Given the description of an element on the screen output the (x, y) to click on. 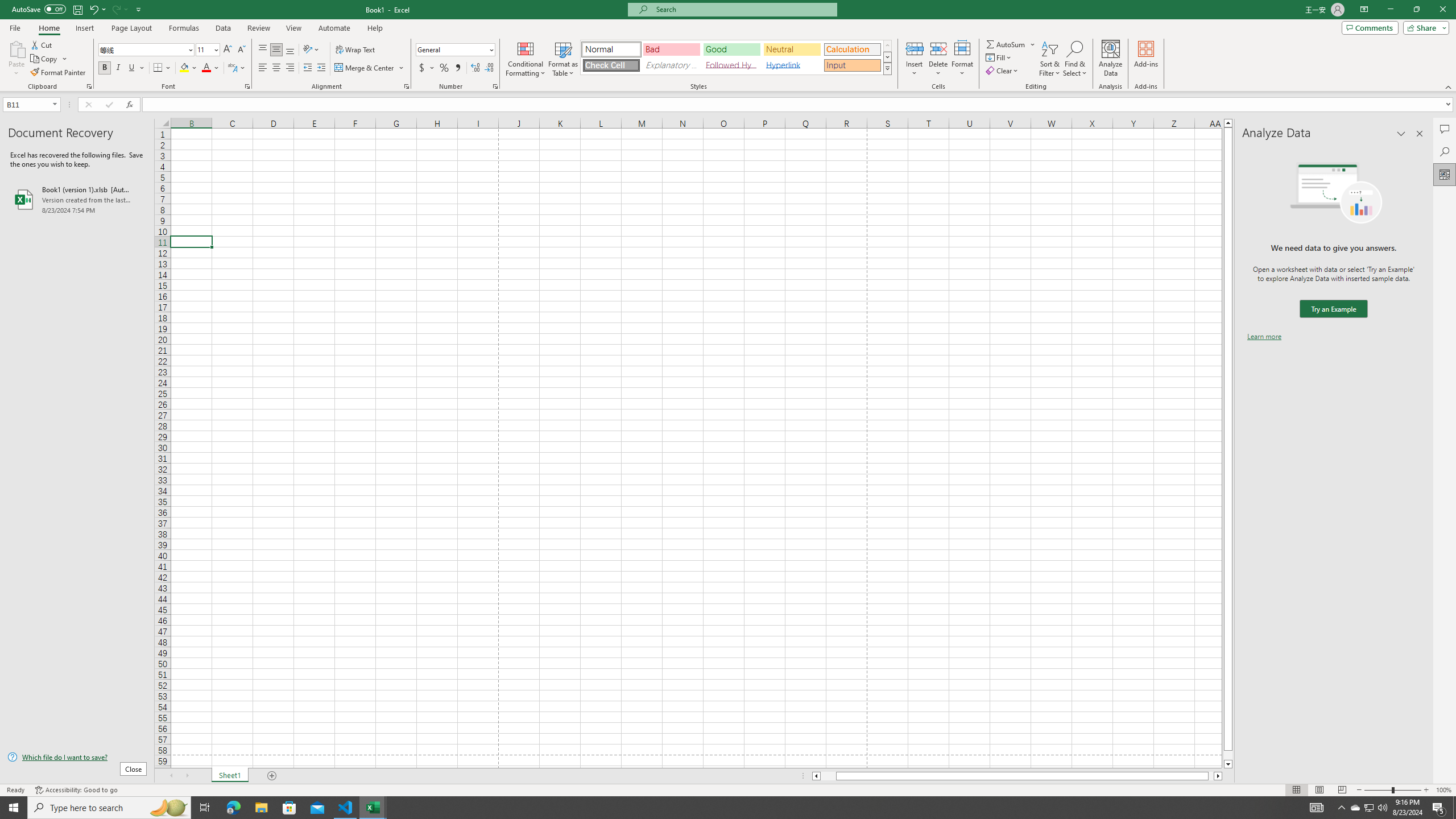
Decrease Indent (307, 67)
Accounting Number Format (422, 67)
Input (852, 65)
Font Size (207, 49)
Accounting Number Format (426, 67)
Paste (16, 58)
